Given the description of an element on the screen output the (x, y) to click on. 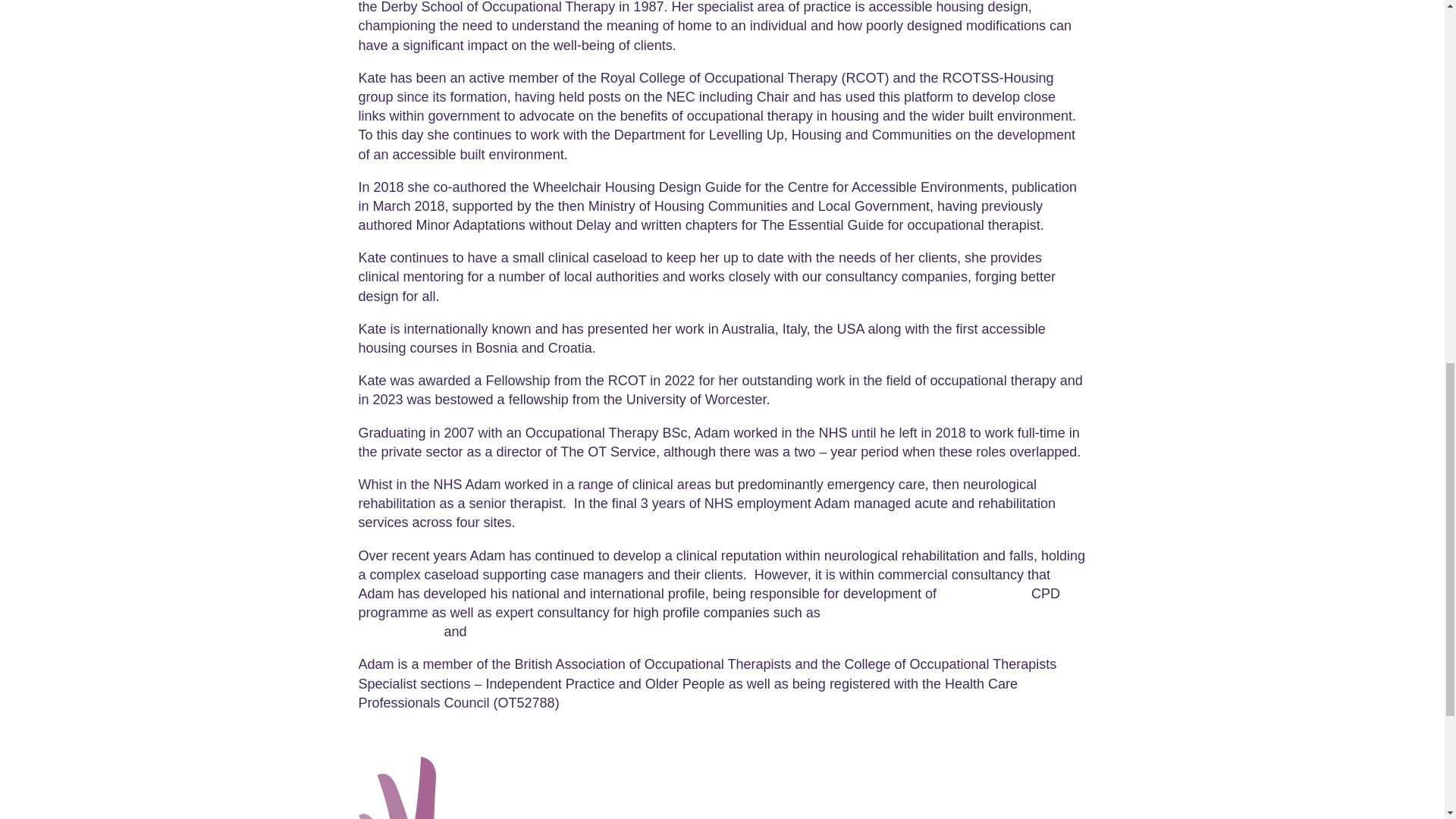
Invacare (960, 612)
Closomat (893, 612)
The OT Show (985, 593)
Abacus Healthca (525, 631)
Mangar International (700, 622)
AKW (840, 612)
